Given the description of an element on the screen output the (x, y) to click on. 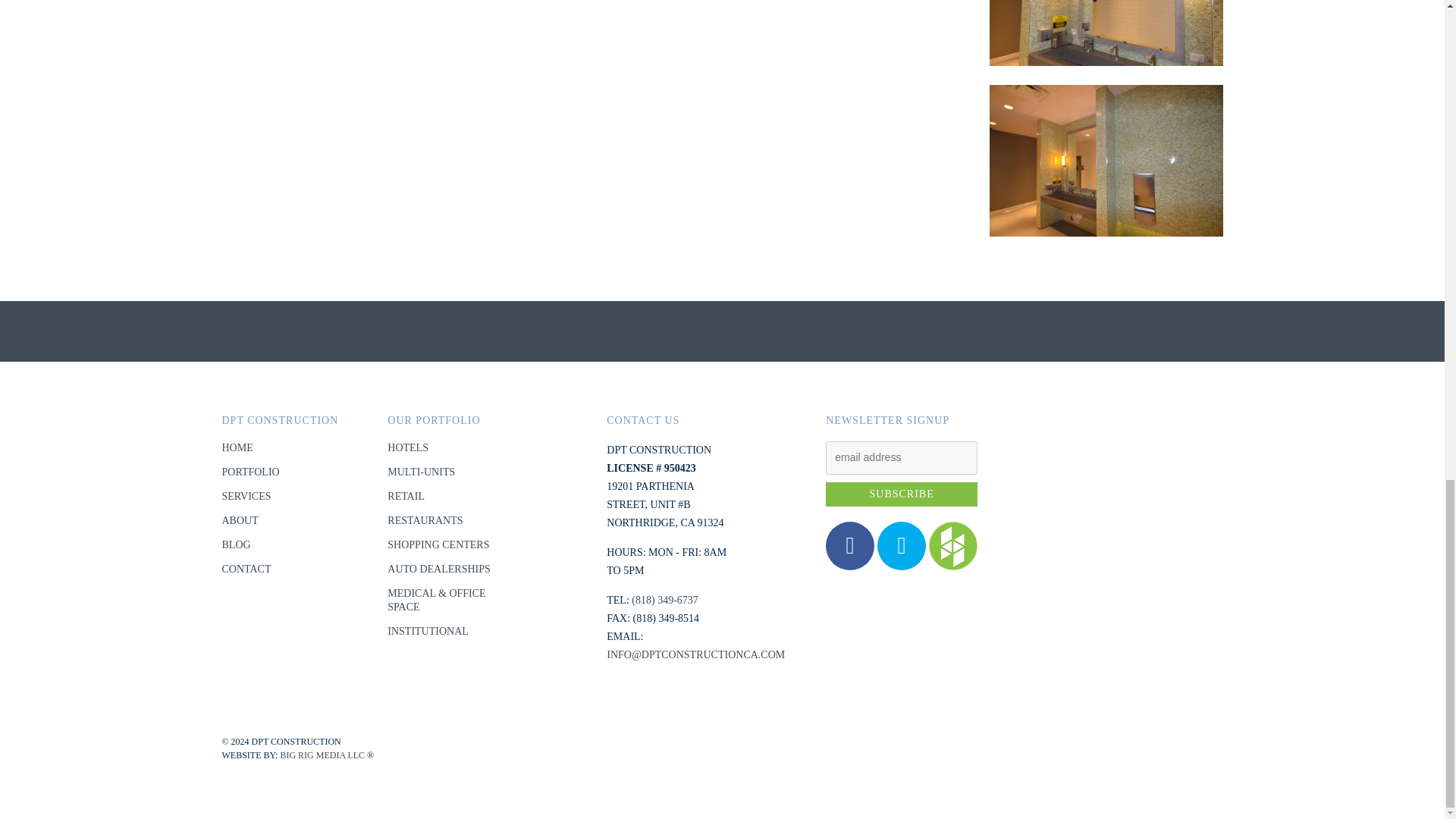
Subscribe (900, 494)
PORTFOLIO (250, 471)
HOME (236, 447)
SERVICES (245, 496)
